Given the description of an element on the screen output the (x, y) to click on. 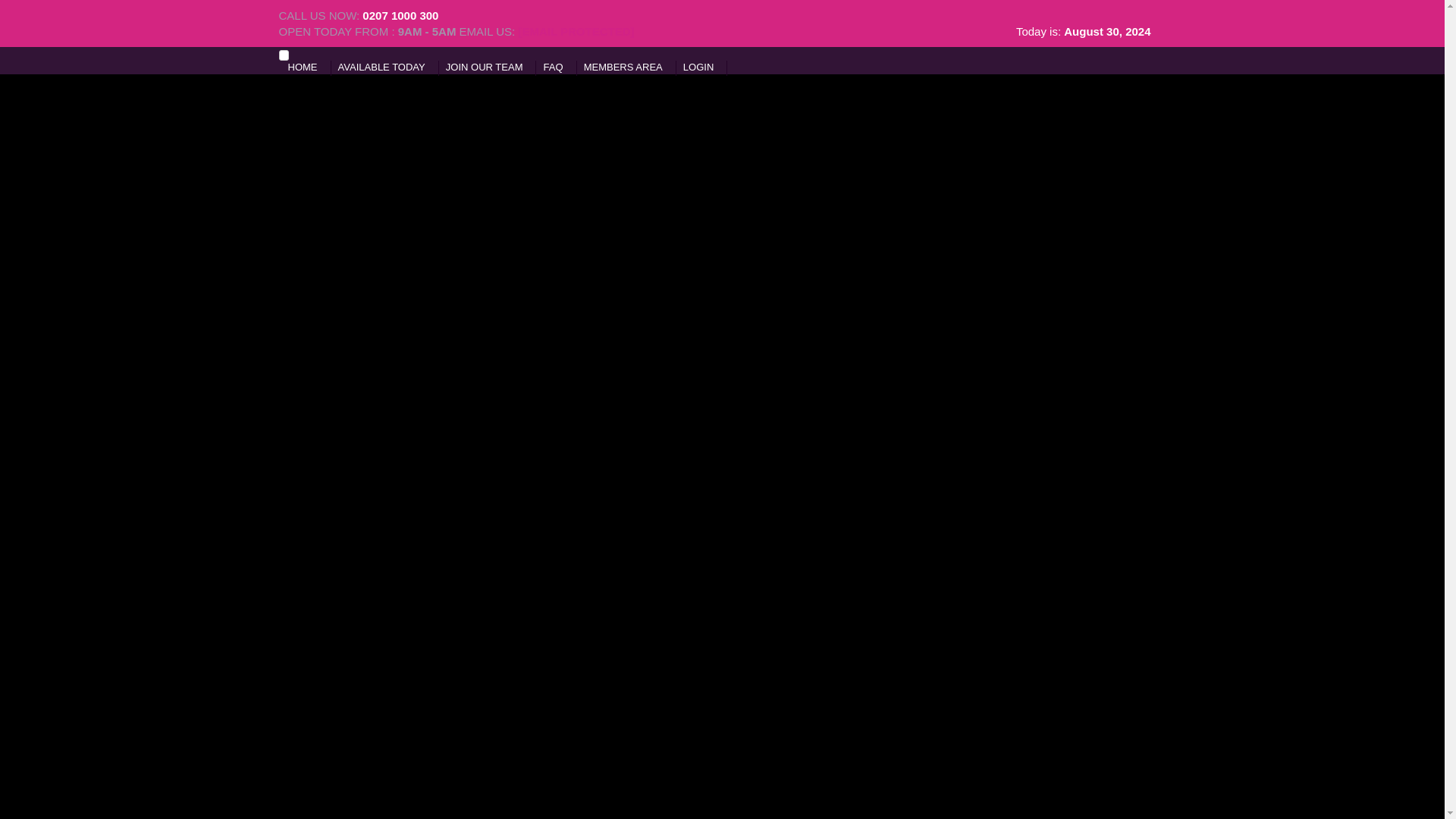
Skip to content (306, 66)
LOGIN (697, 66)
0207 1000 300 (400, 15)
AVAILABLE TODAY (381, 66)
HOME (302, 66)
MEMBERS AREA (622, 66)
Skip to content (306, 66)
JOIN OUR TEAM (483, 66)
FAQ (553, 66)
